Given the description of an element on the screen output the (x, y) to click on. 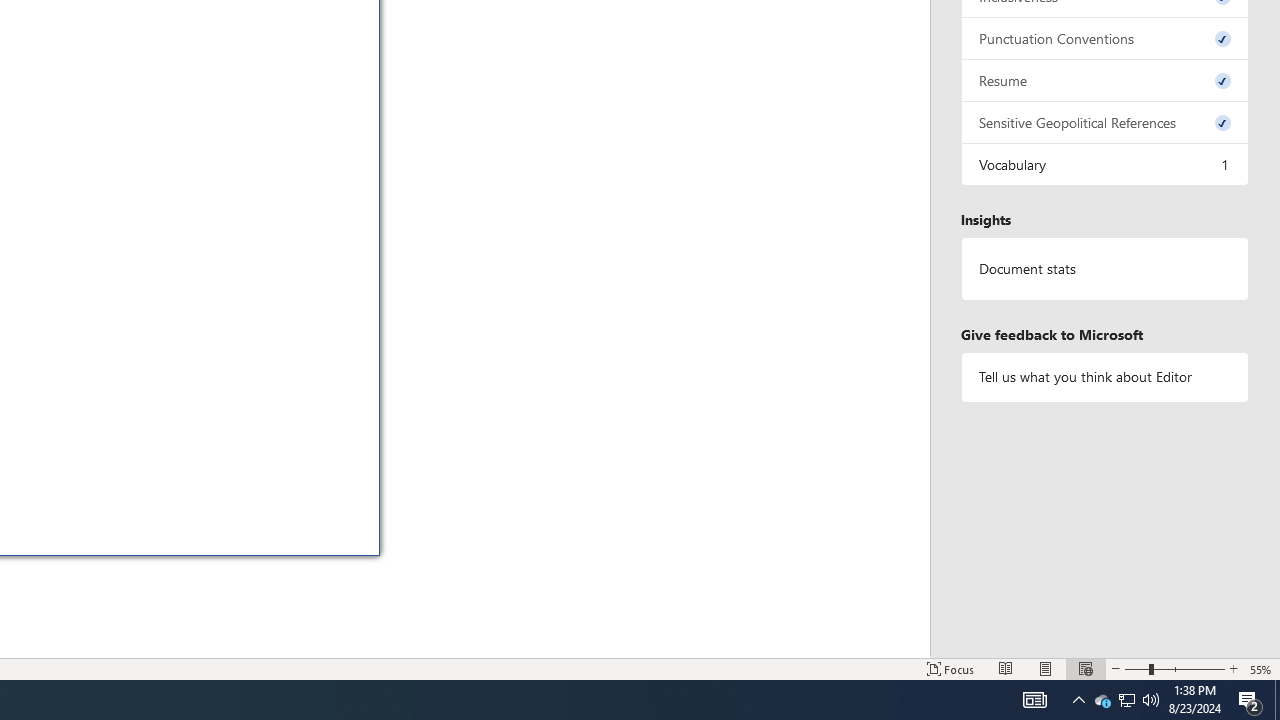
Zoom 55% (1261, 668)
Resume, 0 issues. Press space or enter to review items. (1105, 79)
Tell us what you think about Editor (1105, 376)
Add officeatwork | Wizard for Office (306, 500)
